Given the description of an element on the screen output the (x, y) to click on. 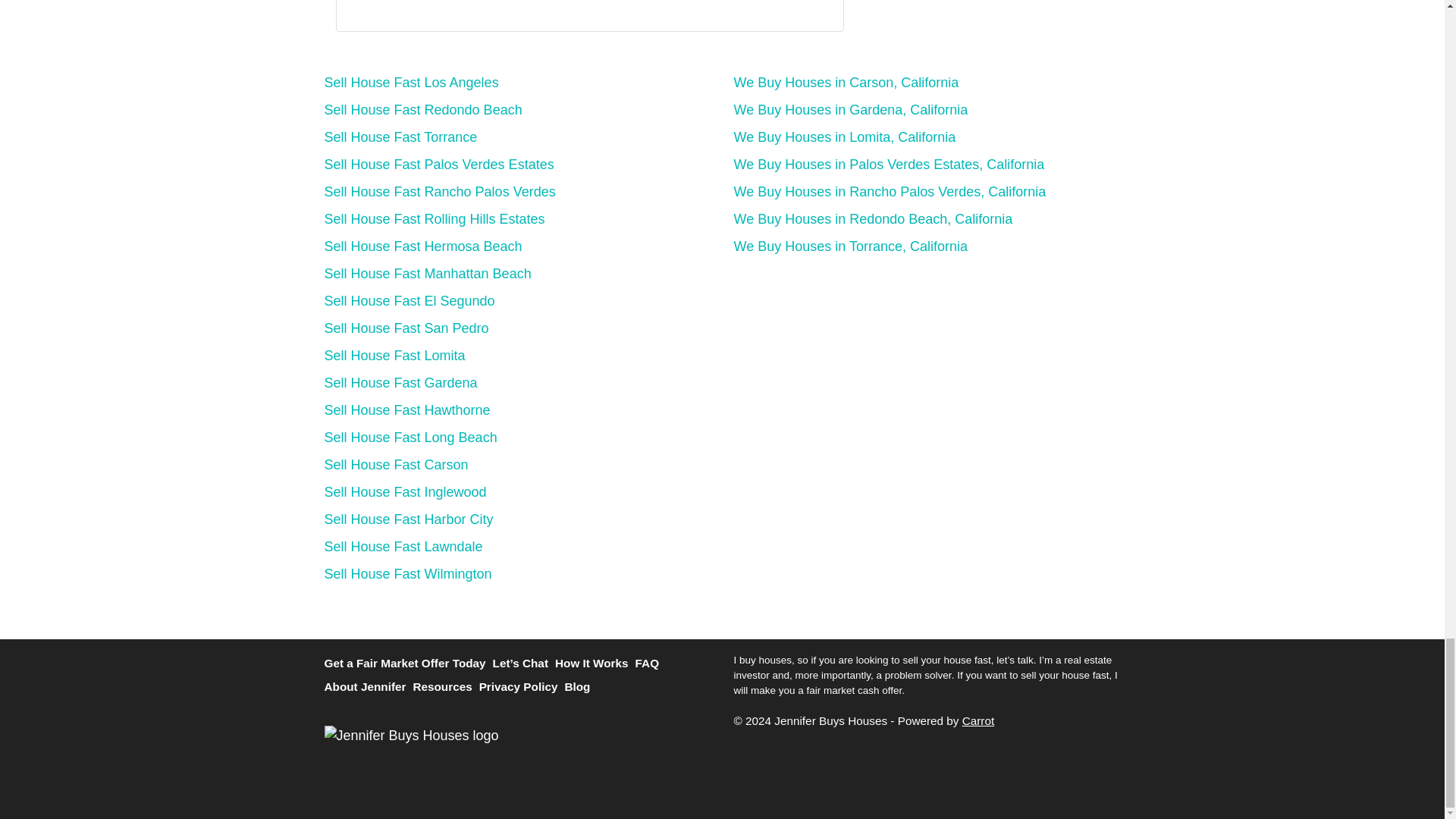
Sell House Fast Los Angeles (411, 82)
Houzz (489, 6)
Instagram (447, 6)
Twitter (362, 6)
Zillow (468, 6)
YouTube (404, 6)
LinkedIn (425, 6)
Facebook (383, 6)
